Given the description of an element on the screen output the (x, y) to click on. 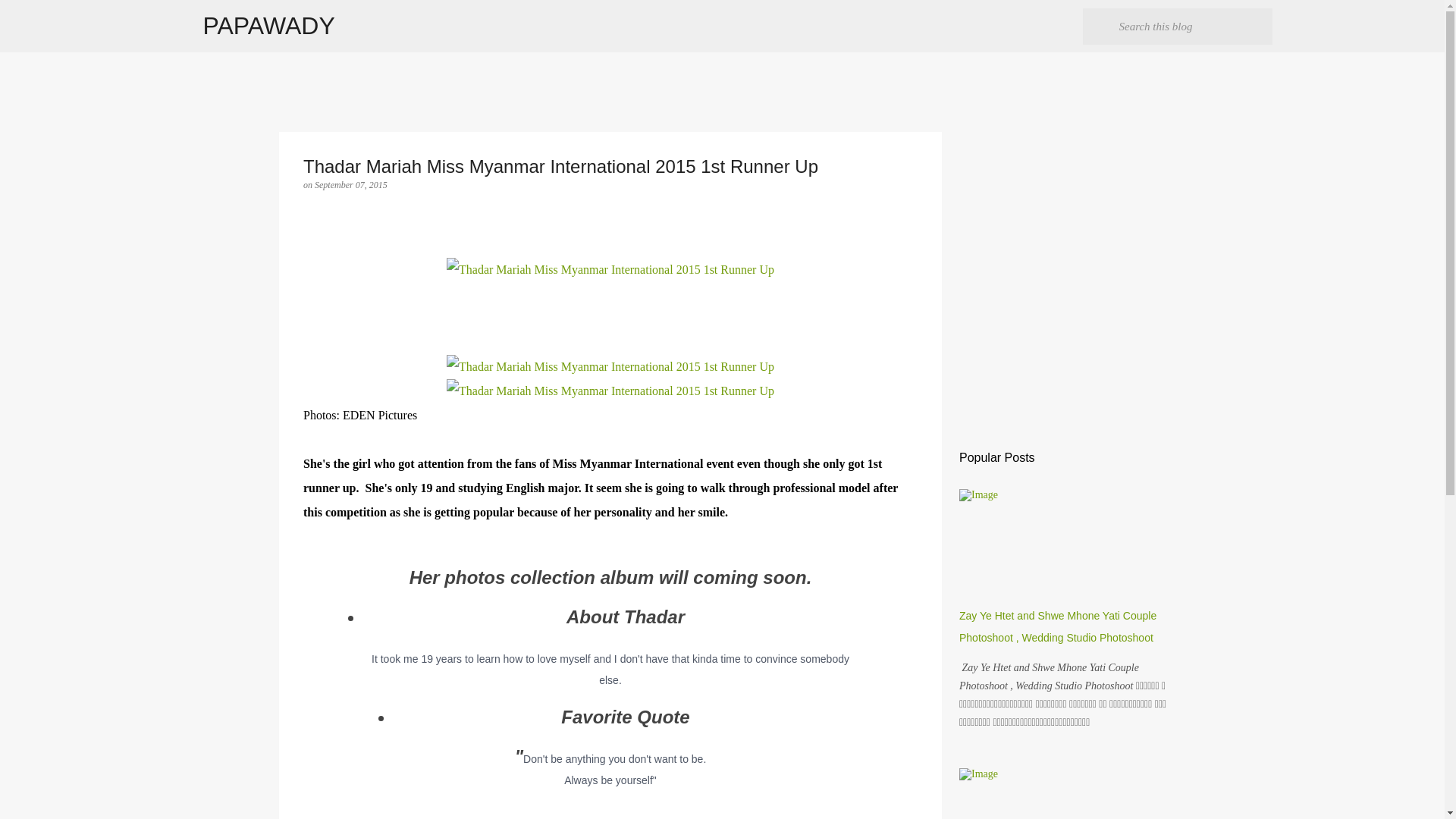
permanent link (350, 184)
Thadar Mariah Miss Myanmar International 2015 1st Runner Up  (610, 366)
PAPAWADY (268, 25)
Thadar Mariah Miss Myanmar International 2015 1st Runner Up  (610, 391)
Thadar Mariah Miss Myanmar International 2015 1st Runner Up  (610, 269)
September 07, 2015 (350, 184)
